Given the description of an element on the screen output the (x, y) to click on. 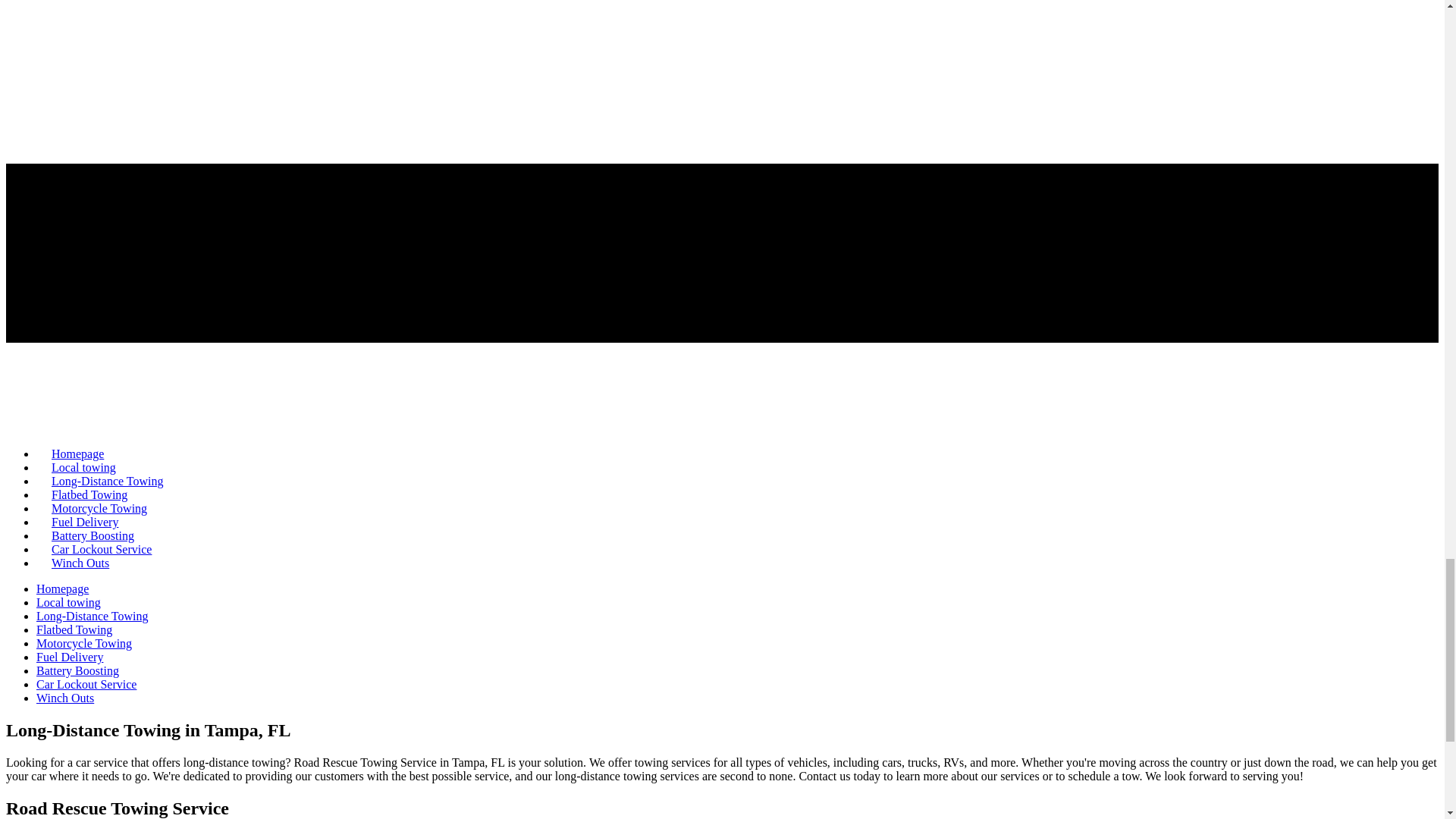
Homepage (62, 588)
Battery Boosting (92, 535)
Local towing (83, 467)
Flatbed Towing (74, 629)
Winch Outs (79, 562)
Winch Outs (65, 697)
Motorcycle Towing (98, 508)
Car Lockout Service (86, 684)
Fuel Delivery (69, 656)
Homepage (77, 453)
